Given the description of an element on the screen output the (x, y) to click on. 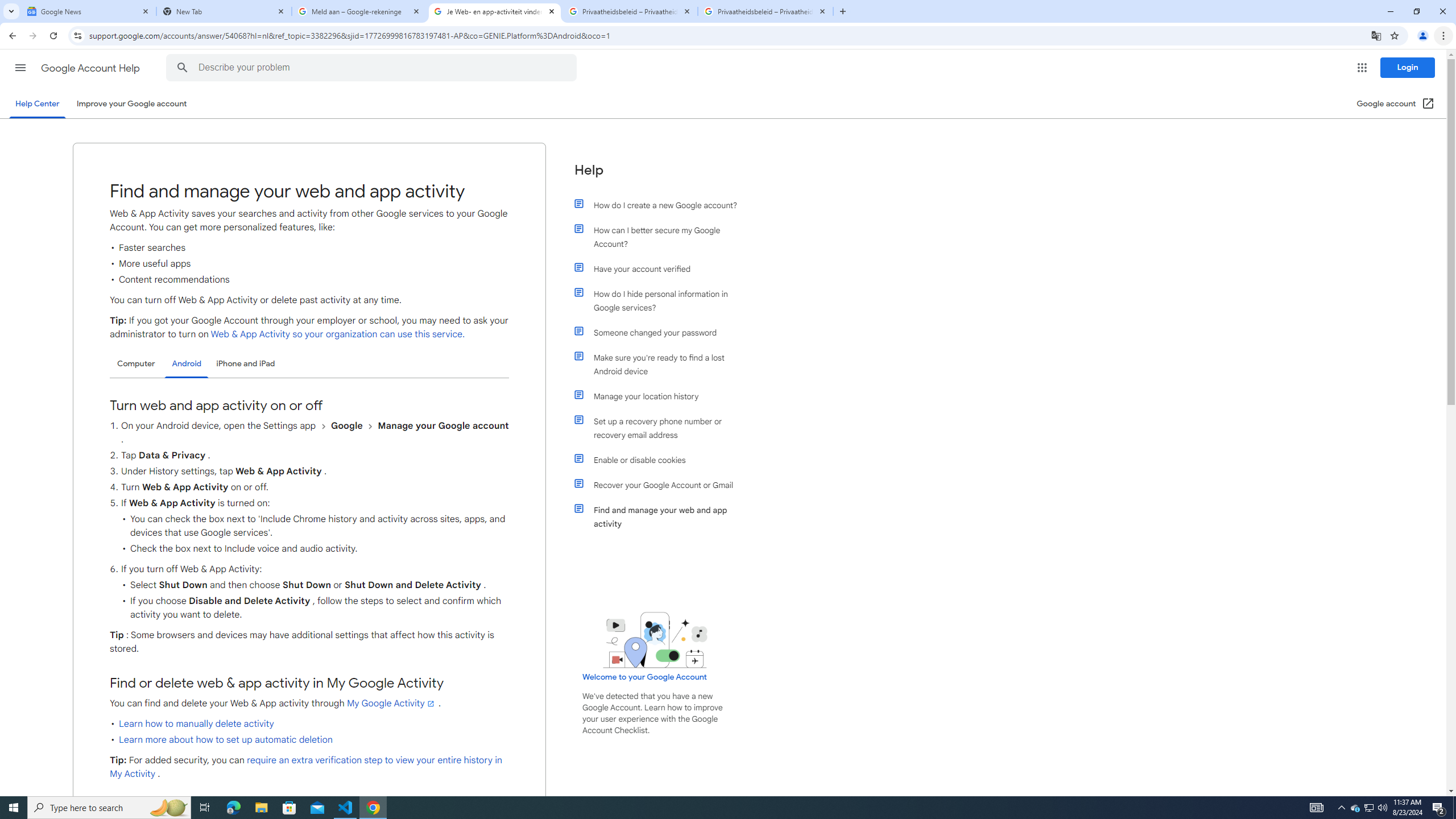
Translate this page (1376, 35)
Google Account Help (91, 68)
My Google Activity (391, 703)
Set up a recovery phone number or recovery email address (661, 427)
Search the Help Center (181, 67)
Learn how to manually delete activity (196, 723)
Minimize (1390, 11)
System (6, 6)
and then (370, 425)
New Tab (842, 11)
iPhone and iPad (245, 363)
